Given the description of an element on the screen output the (x, y) to click on. 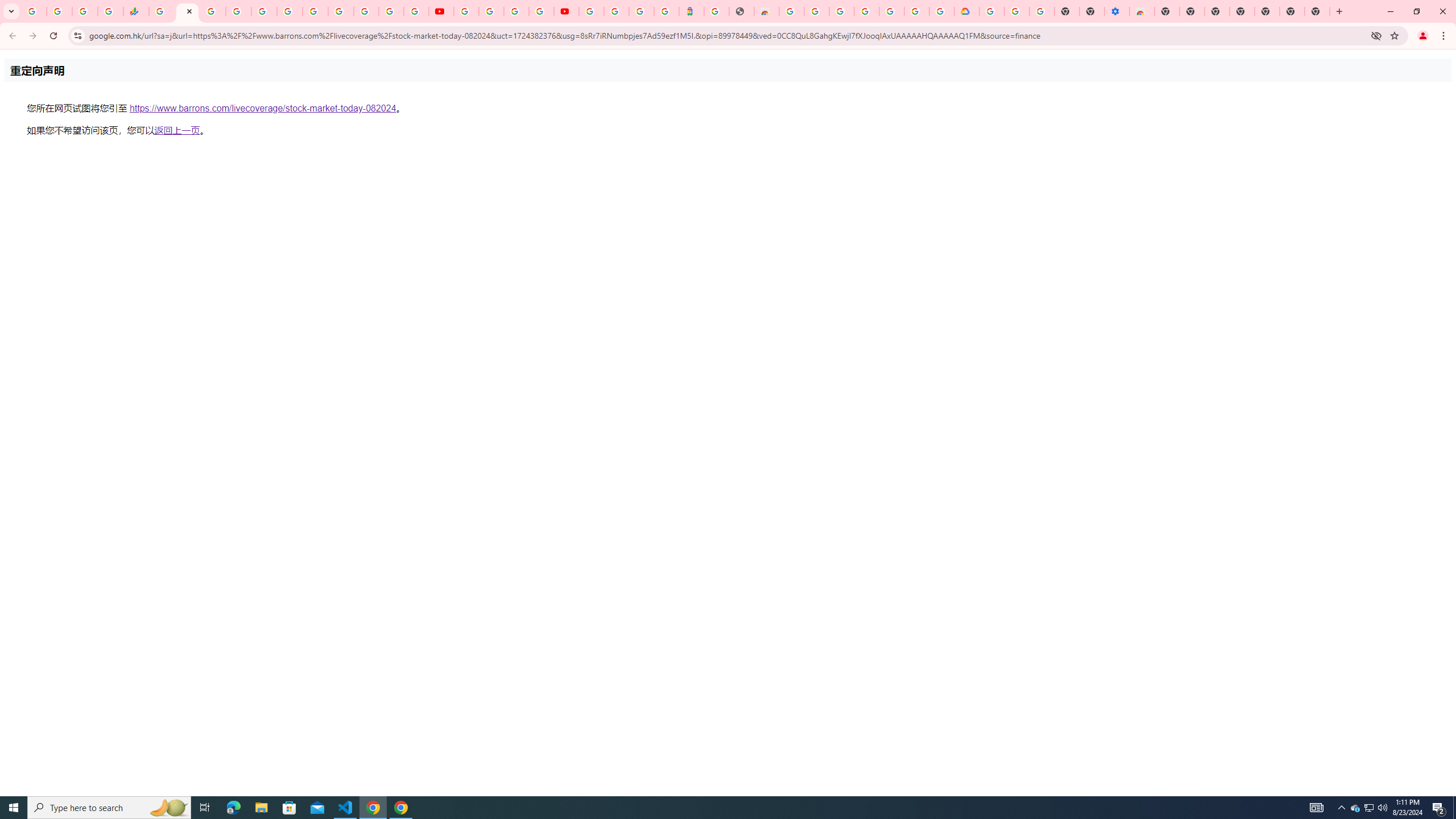
Create your Google Account (516, 11)
New Tab (1317, 11)
Settings - Accessibility (1116, 11)
Google Account Help (491, 11)
Ad Settings (816, 11)
YouTube (440, 11)
Sign in - Google Accounts (590, 11)
